Given the description of an element on the screen output the (x, y) to click on. 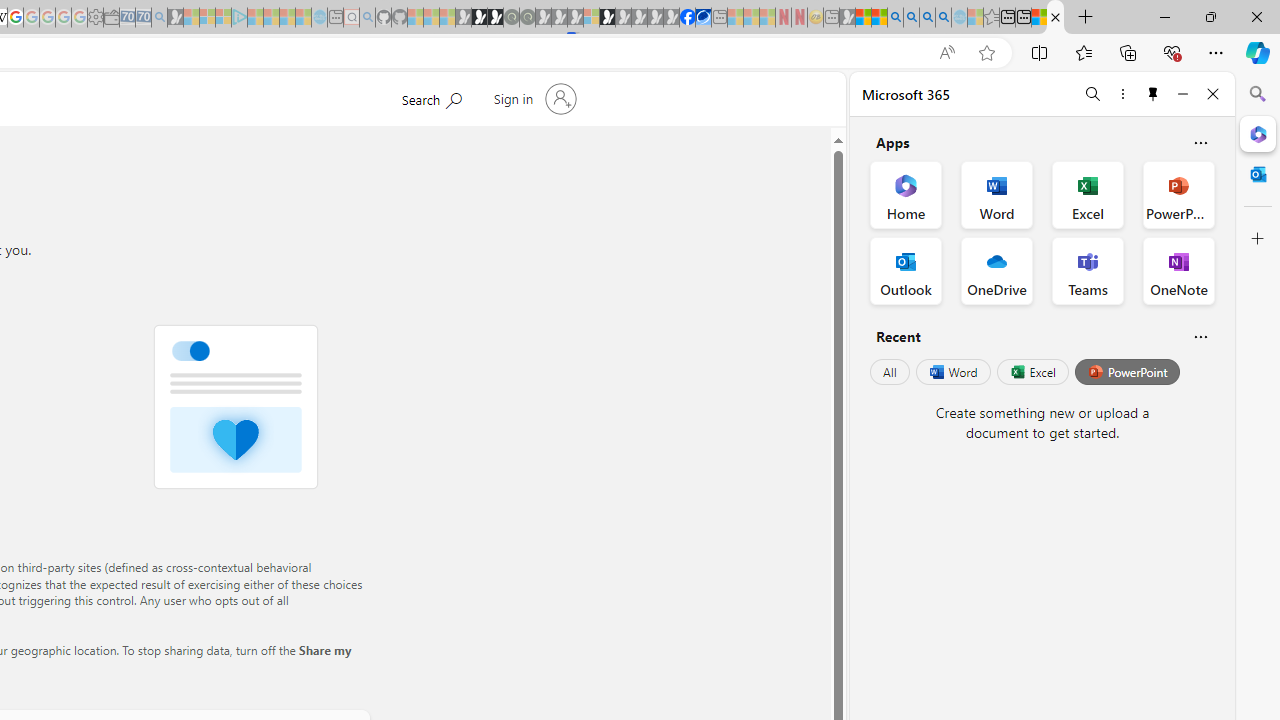
Google Chrome Internet Browser Download - Search Images (943, 17)
